Given the description of an element on the screen output the (x, y) to click on. 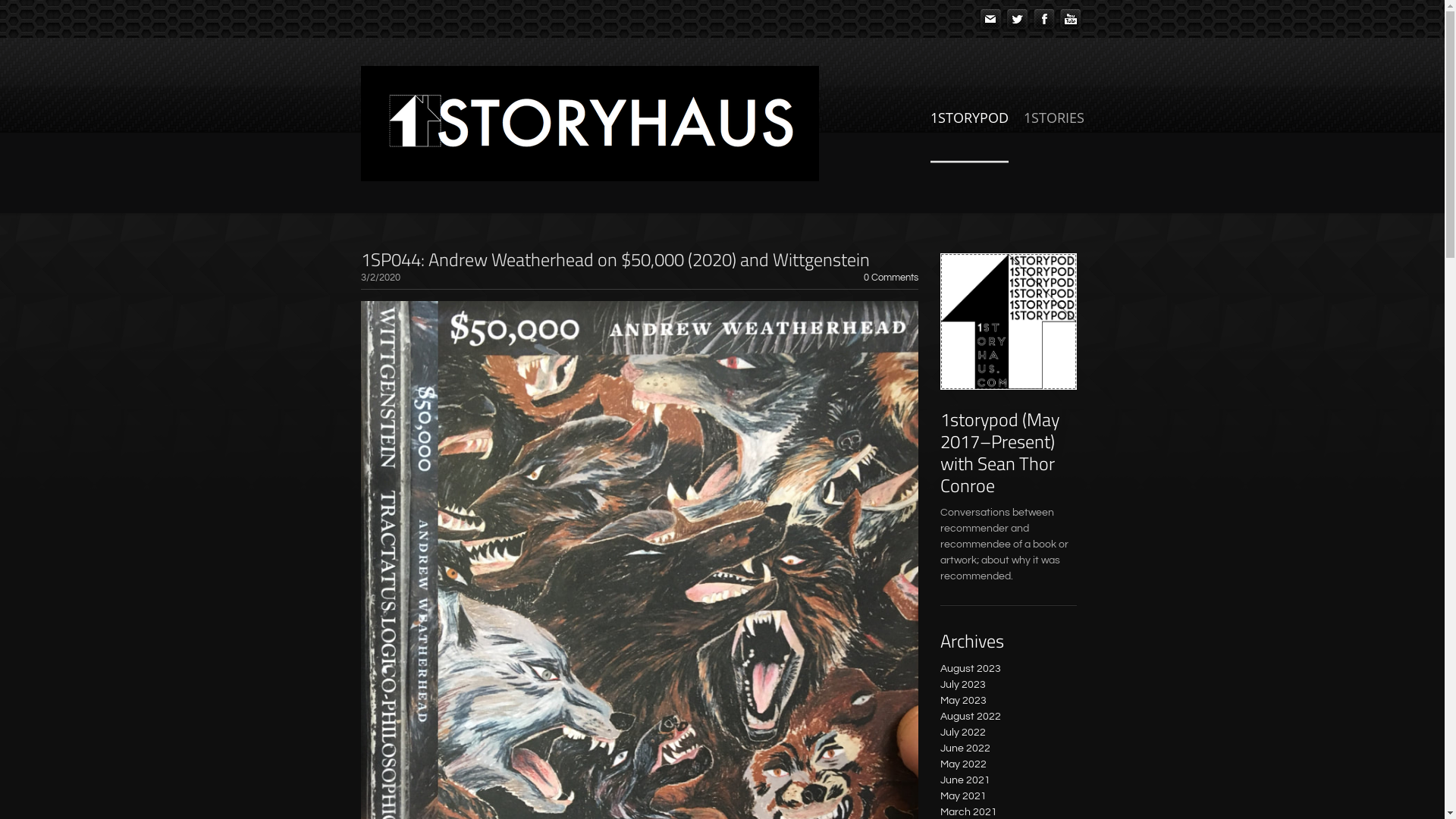
May 2023 Element type: text (963, 700)
1STORYPOD Element type: text (968, 134)
0 Comments Element type: text (889, 277)
May 2022 Element type: text (963, 764)
March 2021 Element type: text (968, 811)
July 2022 Element type: text (962, 732)
July 2023 Element type: text (962, 684)
June 2021 Element type: text (965, 780)
1STORIES Element type: text (1053, 134)
June 2022 Element type: text (965, 748)
May 2021 Element type: text (963, 795)
August 2023 Element type: text (970, 668)
August 2022 Element type: text (970, 716)
